Given the description of an element on the screen output the (x, y) to click on. 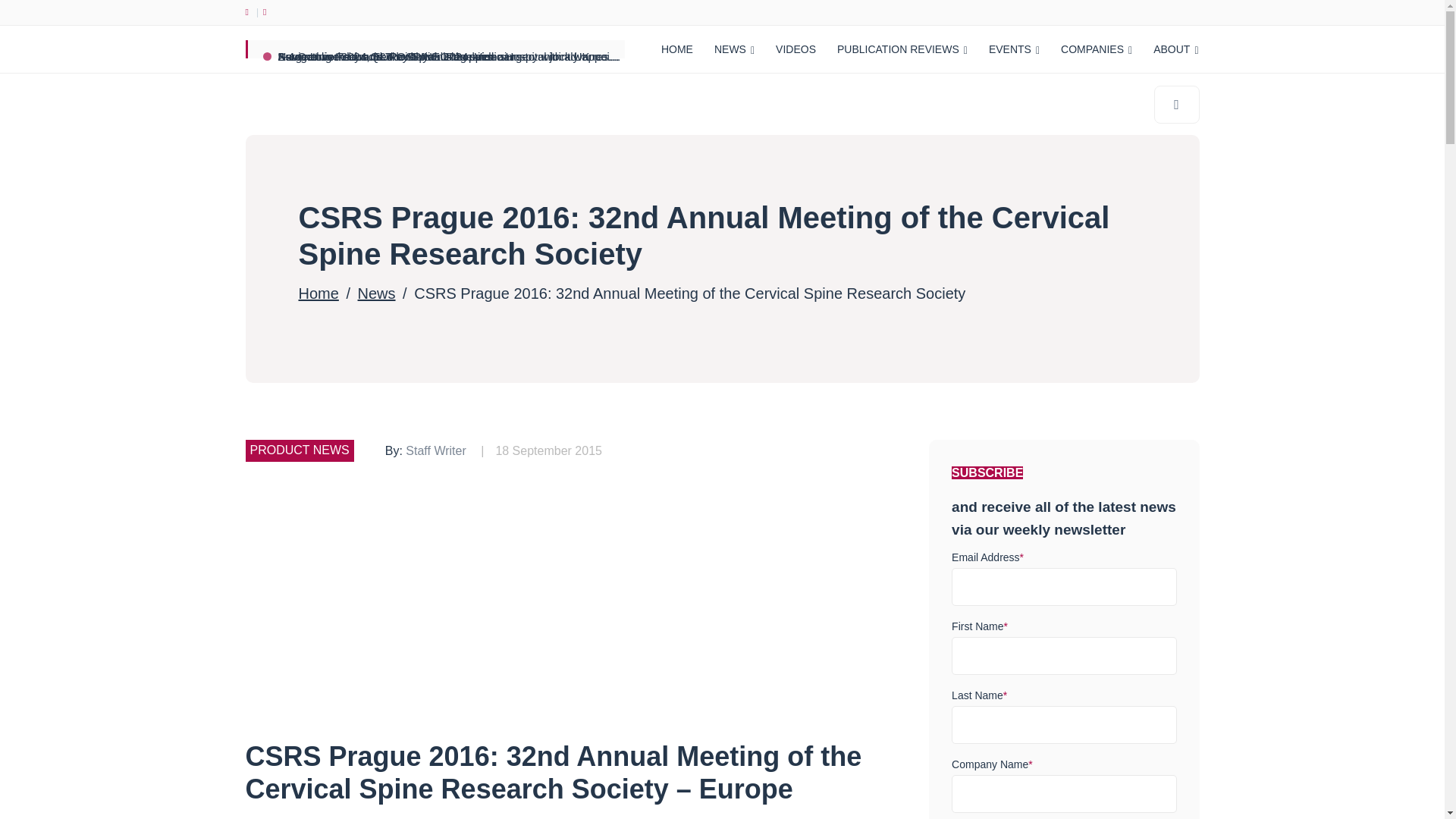
EVENTS (1013, 49)
2-4 October 2024, EUROSPINE 2024; Vienna (393, 56)
NEWS (734, 49)
HOME (676, 49)
Posts by Staff Writer (435, 450)
PUBLICATION REVIEWS (902, 49)
ABOUT (1175, 49)
COMPANIES (1095, 49)
